Given the description of an element on the screen output the (x, y) to click on. 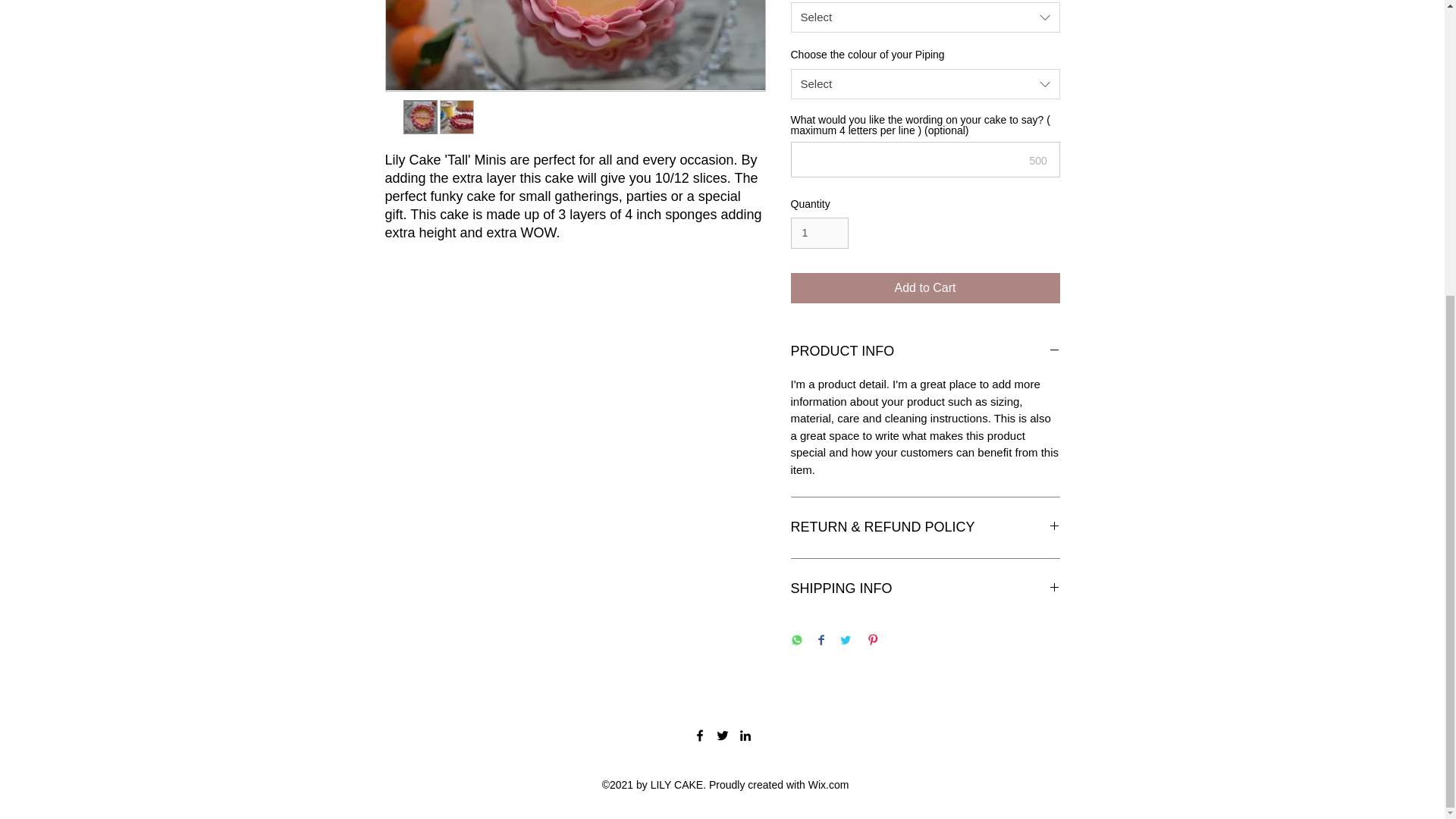
PRODUCT INFO (924, 351)
1 (818, 232)
Select (924, 17)
SHIPPING INFO (924, 589)
Select (924, 83)
Add to Cart (924, 287)
